Given the description of an element on the screen output the (x, y) to click on. 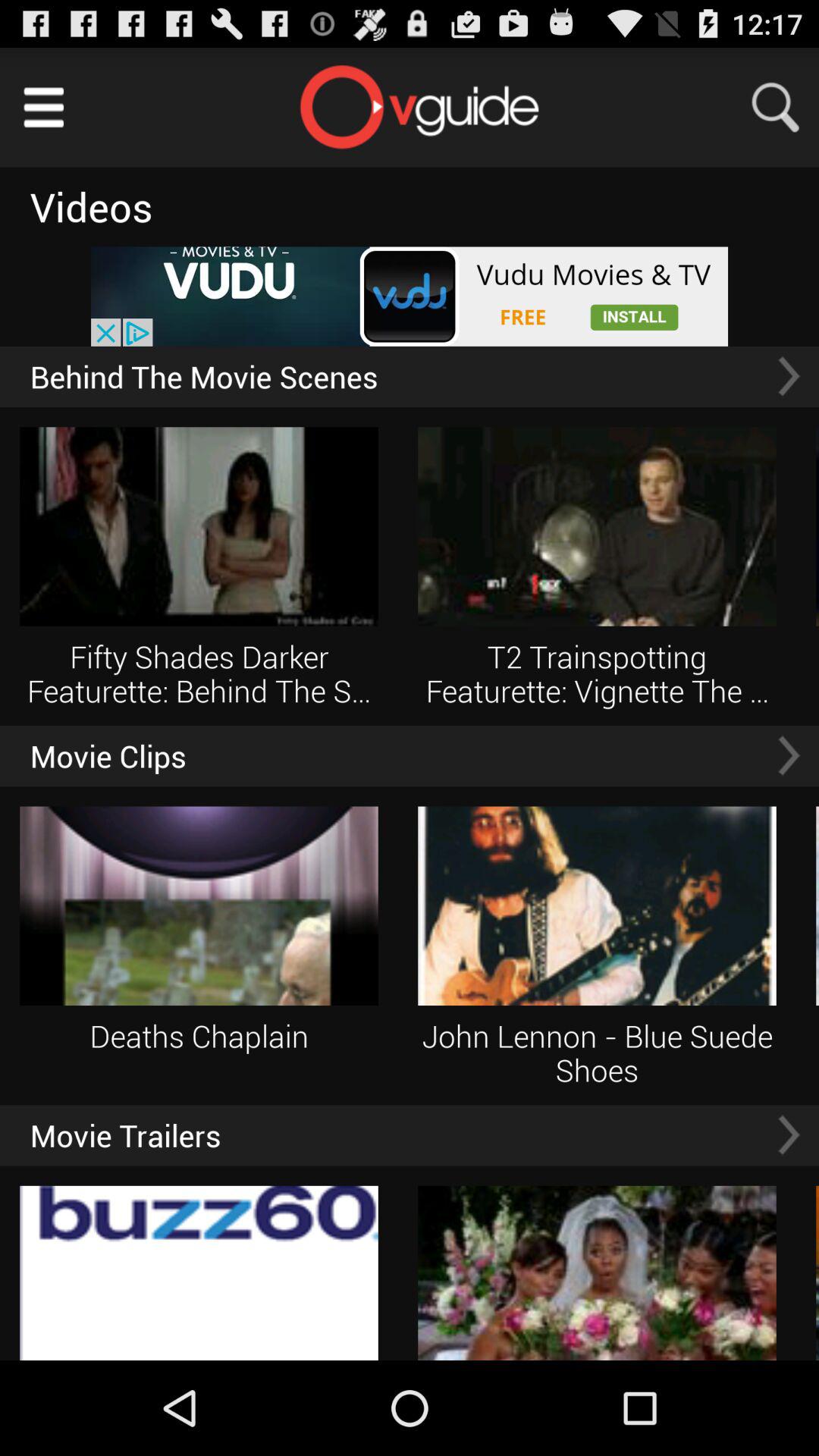
see more videos (789, 755)
